Given the description of an element on the screen output the (x, y) to click on. 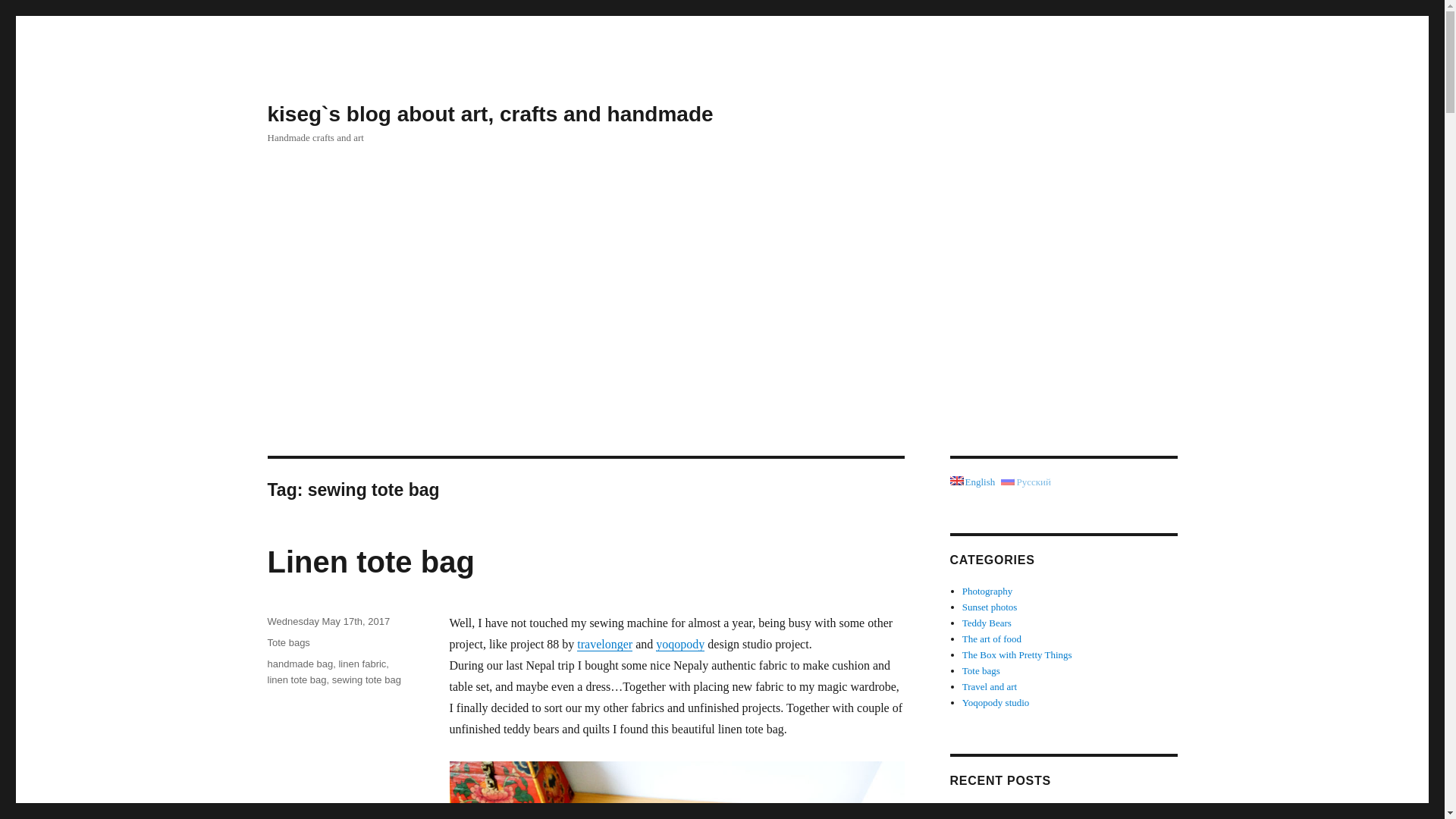
Sunset photos (989, 606)
travelonger (603, 644)
Teddy Bears (986, 622)
Yoqopody studio (995, 702)
Everything about photography and my pictures (986, 591)
Tote bags (287, 642)
The Box with Pretty Things (1016, 654)
Handmade jewelry by Yoqopody studio (1040, 811)
linen tote bag (296, 679)
yoqopody (680, 644)
Wednesday May 17th, 2017 (328, 621)
sewing tote bag (366, 679)
Travel and art (989, 686)
